Given the description of an element on the screen output the (x, y) to click on. 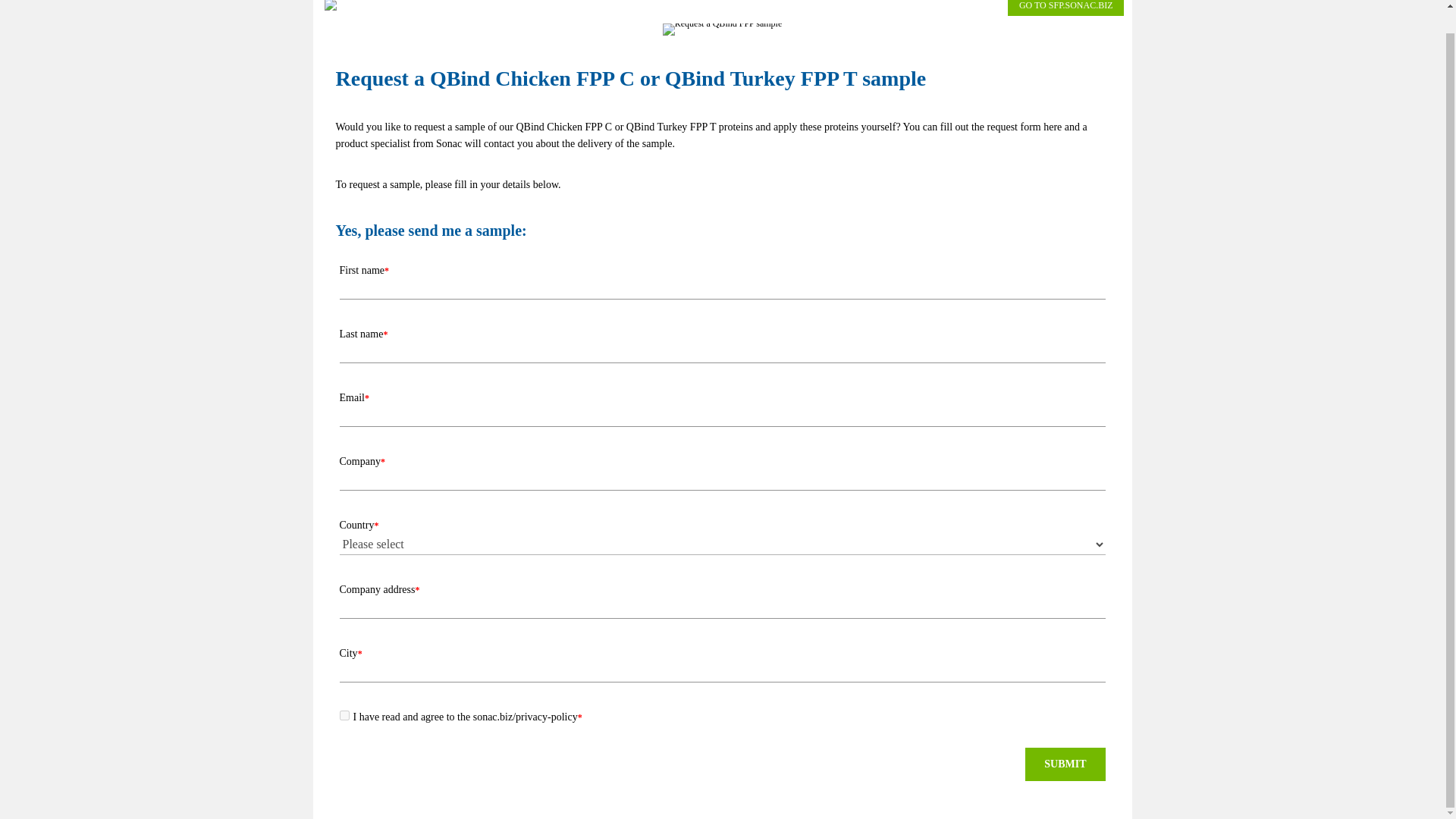
GO TO SFP.SONAC.BIZ (1065, 7)
on (344, 715)
SUBMIT (1065, 764)
